Given the description of an element on the screen output the (x, y) to click on. 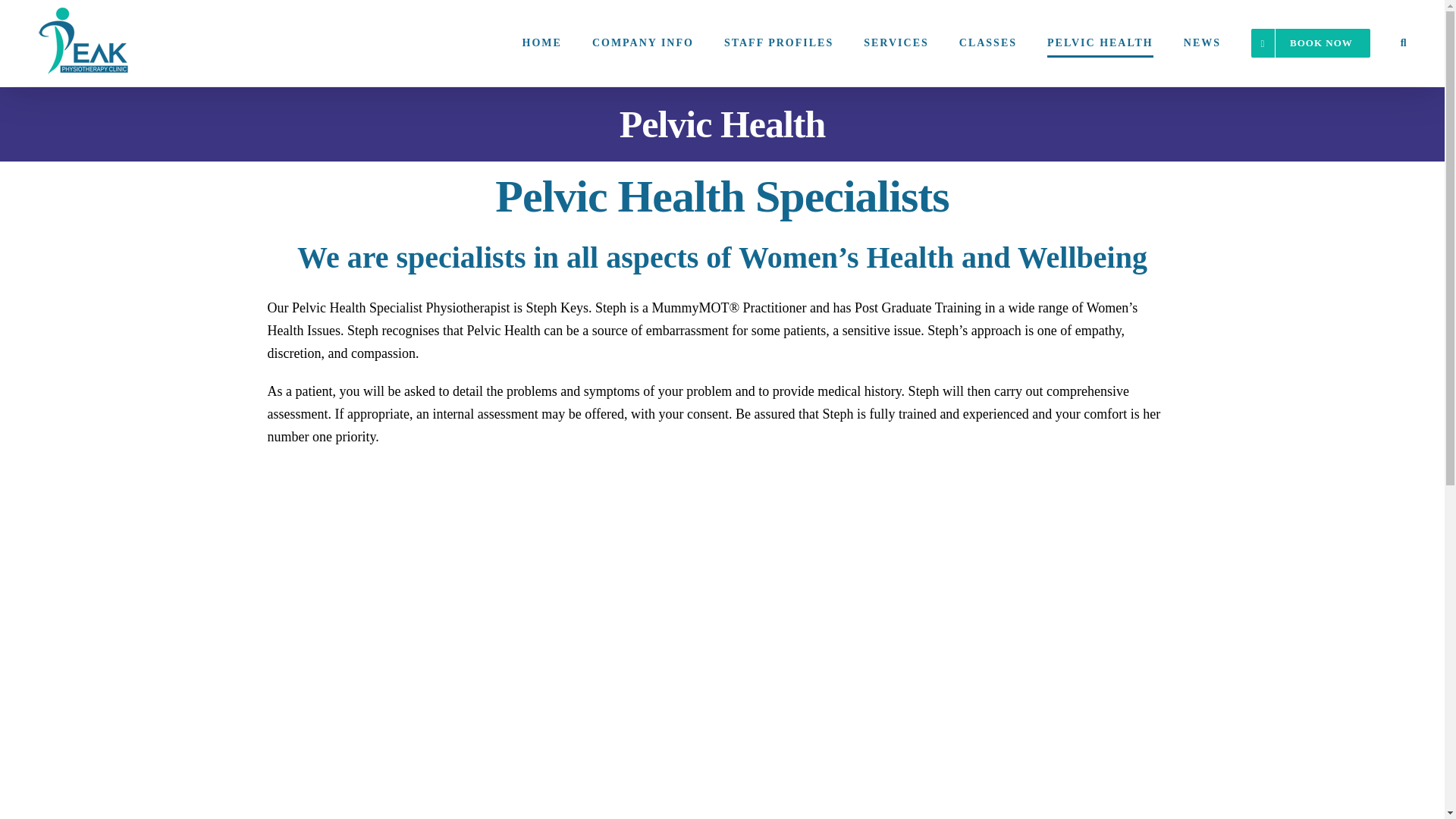
COMPANY INFO (643, 43)
PELVIC HEALTH (1099, 43)
STAFF PROFILES (777, 43)
BOOK NOW (1310, 43)
